Given the description of an element on the screen output the (x, y) to click on. 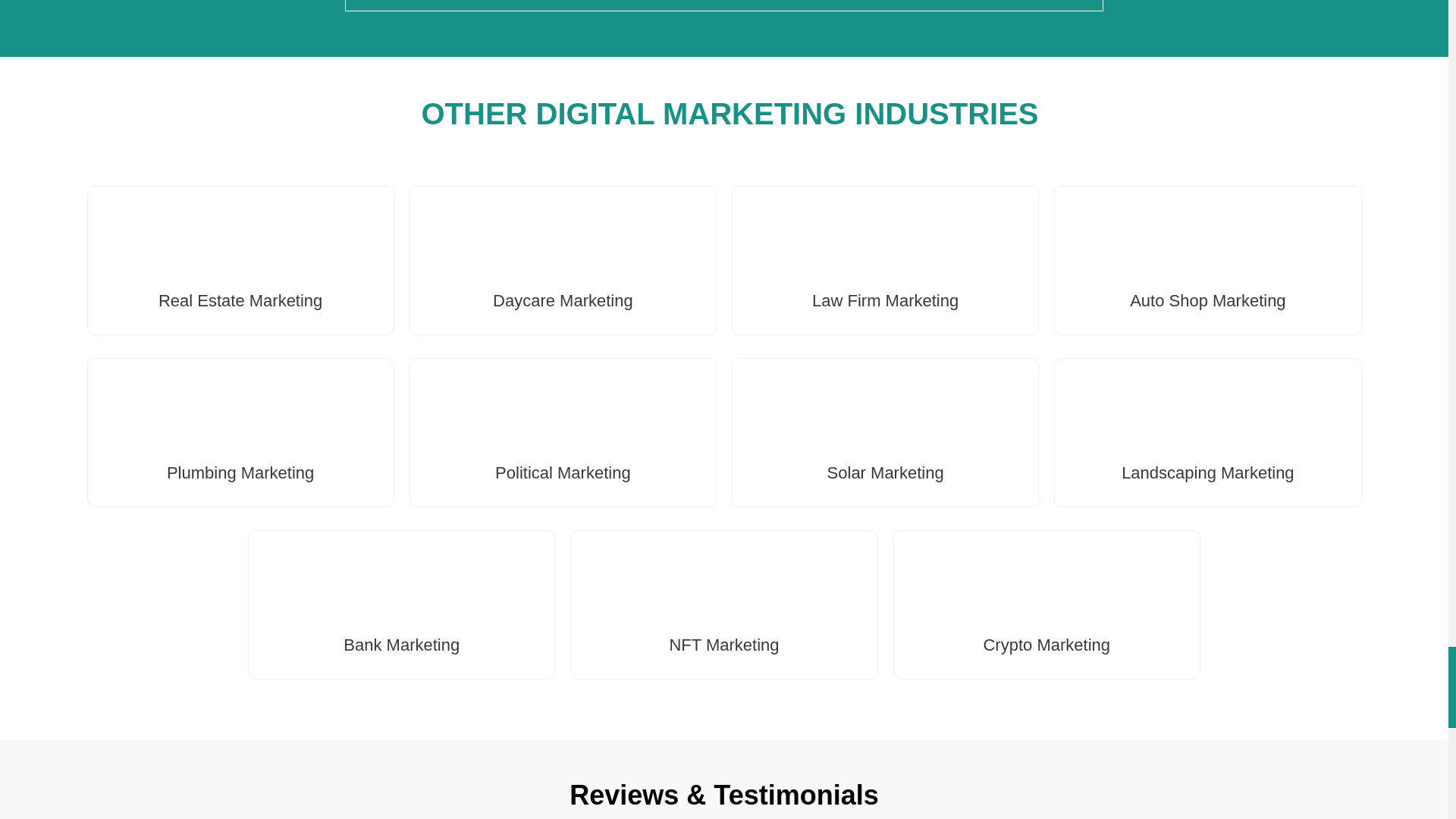
Law Firm Marketing (885, 300)
DIGITAL MARKETING INDUSTRIES (787, 113)
What is Bank Marketing? (724, 5)
Auto Shop Marketing (1207, 300)
Real Estate Marketing (239, 300)
Daycare Marketing (563, 300)
